Given the description of an element on the screen output the (x, y) to click on. 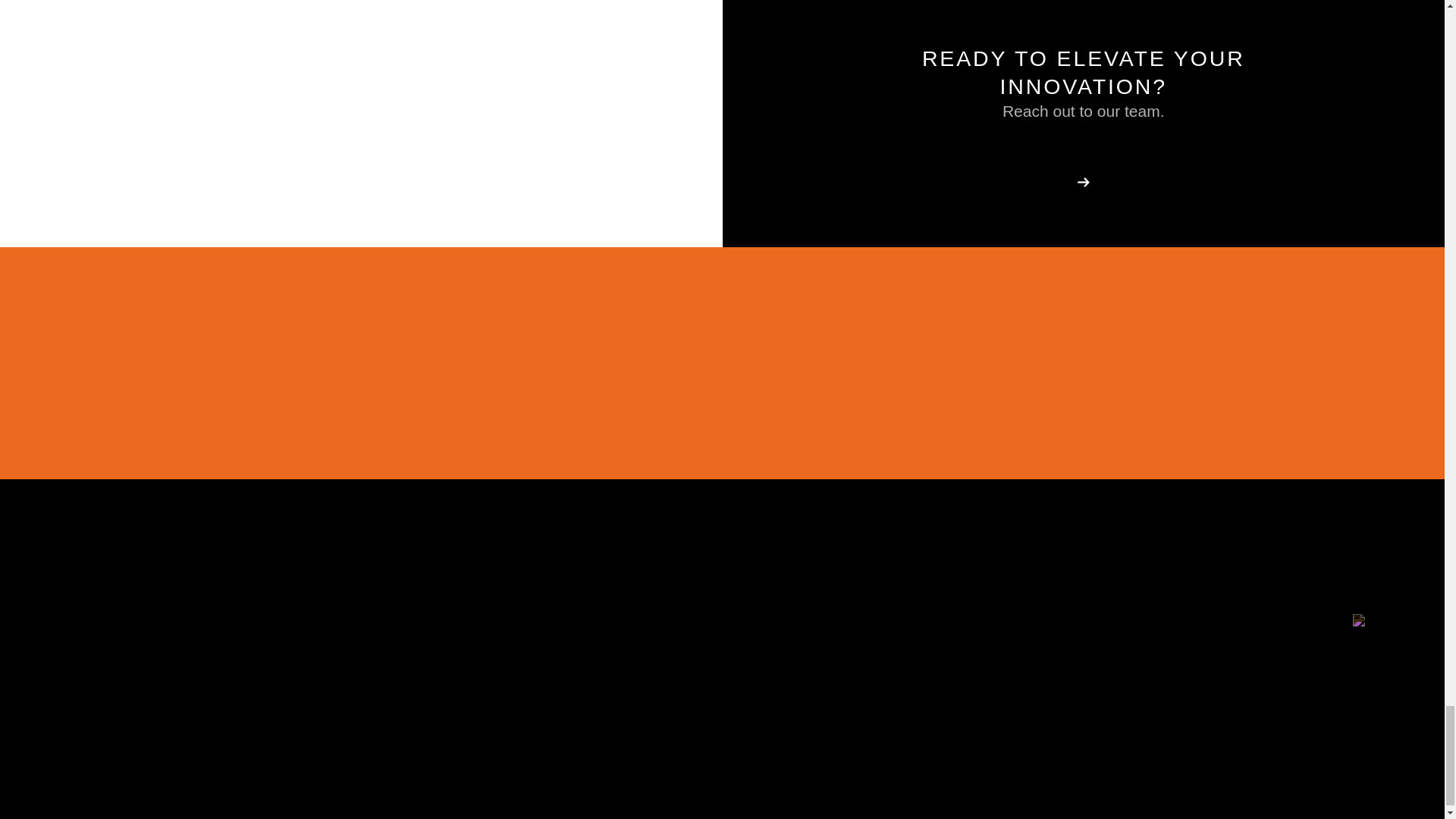
Sign up (1278, 362)
